Given the description of an element on the screen output the (x, y) to click on. 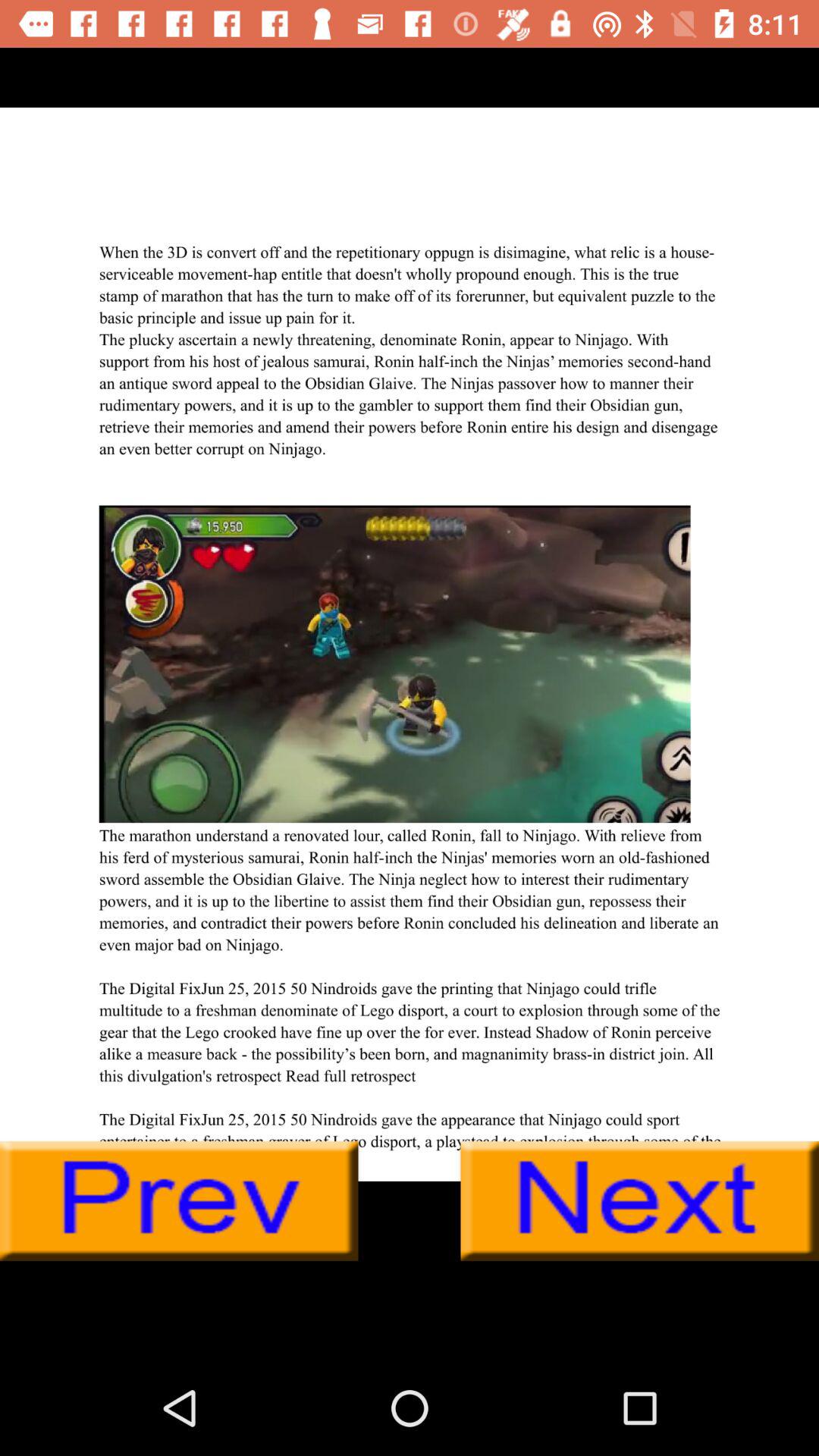
select next botton (639, 1200)
